Given the description of an element on the screen output the (x, y) to click on. 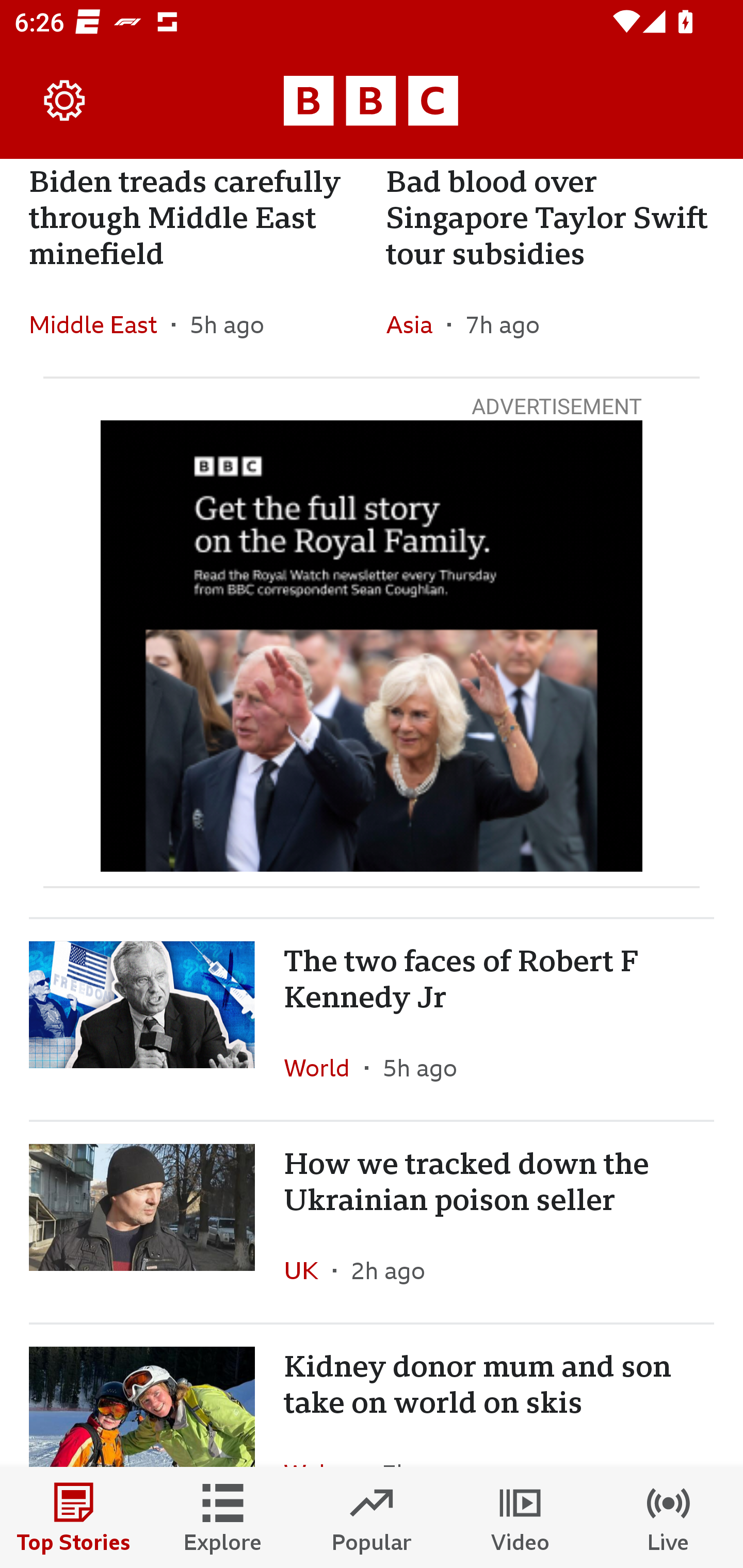
Settings (64, 100)
Middle East In the section Middle East (99, 324)
Asia In the section Asia (416, 324)
World In the section World (323, 1067)
UK In the section UK (307, 1269)
Explore (222, 1517)
Popular (371, 1517)
Video (519, 1517)
Live (668, 1517)
